Given the description of an element on the screen output the (x, y) to click on. 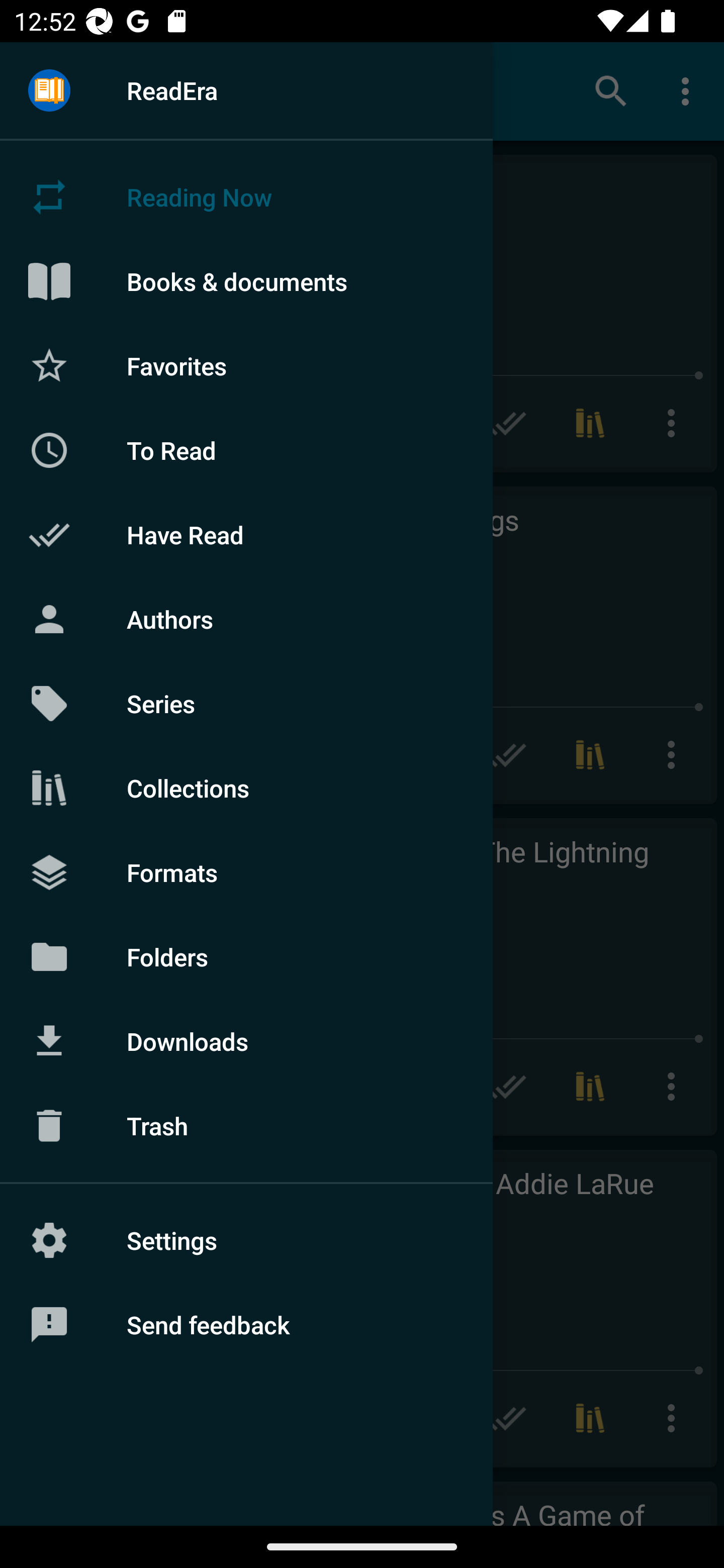
Menu (49, 91)
ReadEra (246, 89)
Search books & documents (611, 90)
More options (688, 90)
Reading Now (246, 197)
Books & documents (246, 281)
Favorites (246, 365)
To Read (246, 449)
Have Read (246, 534)
Authors (246, 619)
Series (246, 703)
Collections (246, 787)
Formats (246, 871)
Folders (246, 956)
Downloads (246, 1040)
Trash (246, 1125)
Settings (246, 1239)
Send feedback (246, 1324)
